Given the description of an element on the screen output the (x, y) to click on. 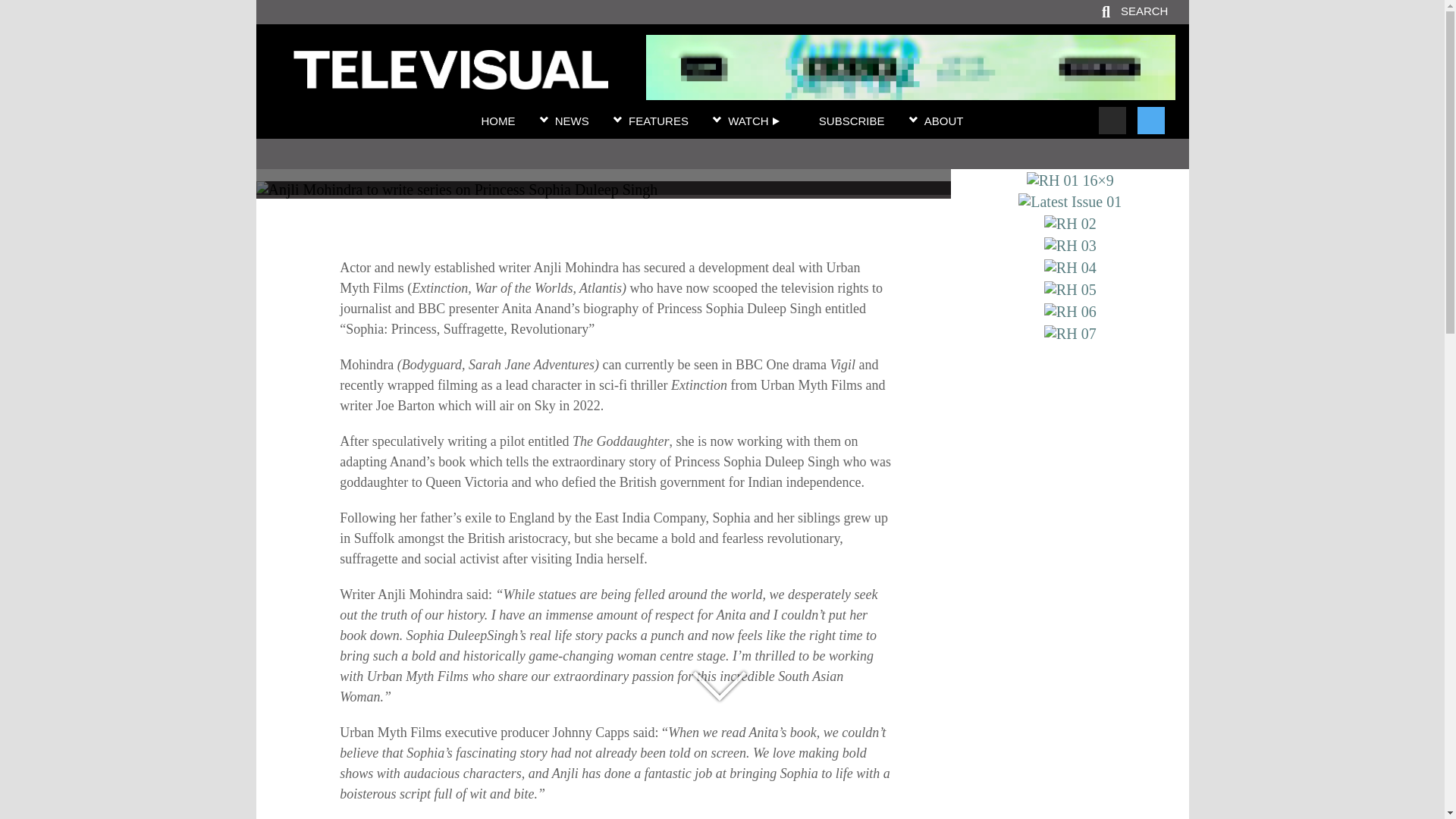
HOME (497, 121)
SUBSCRIBE (851, 121)
ABOUT (943, 121)
FEATURES (658, 121)
NEWS (571, 121)
WATCH (753, 121)
